Given the description of an element on the screen output the (x, y) to click on. 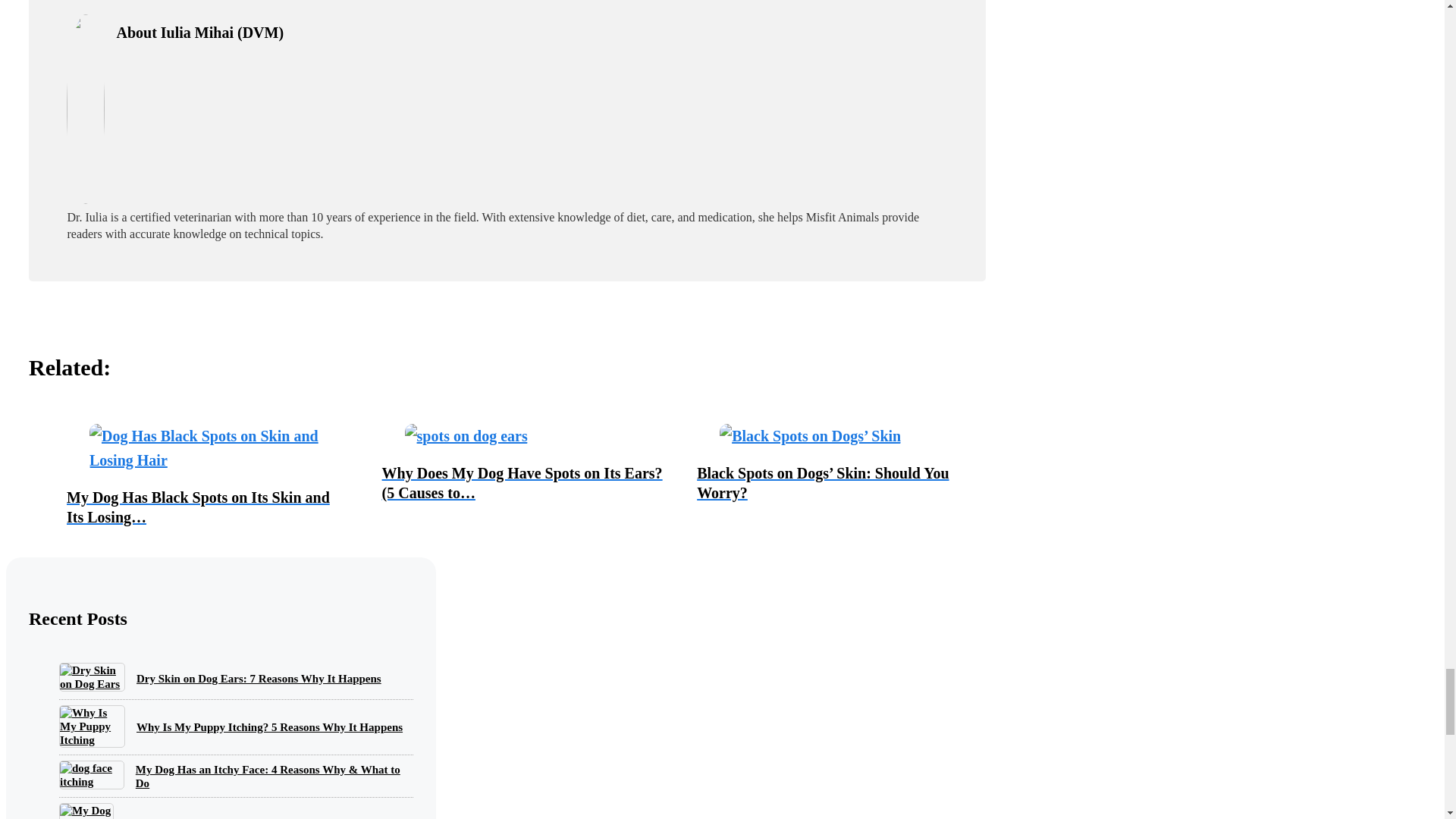
Why Is My Puppy Itching? 5 Reasons Why It Happens (269, 726)
Dry Skin on Dog Ears: 7 Reasons Why It Happens (92, 676)
Dry Skin on Dog Ears: 7 Reasons Why It Happens (258, 678)
